Given the description of an element on the screen output the (x, y) to click on. 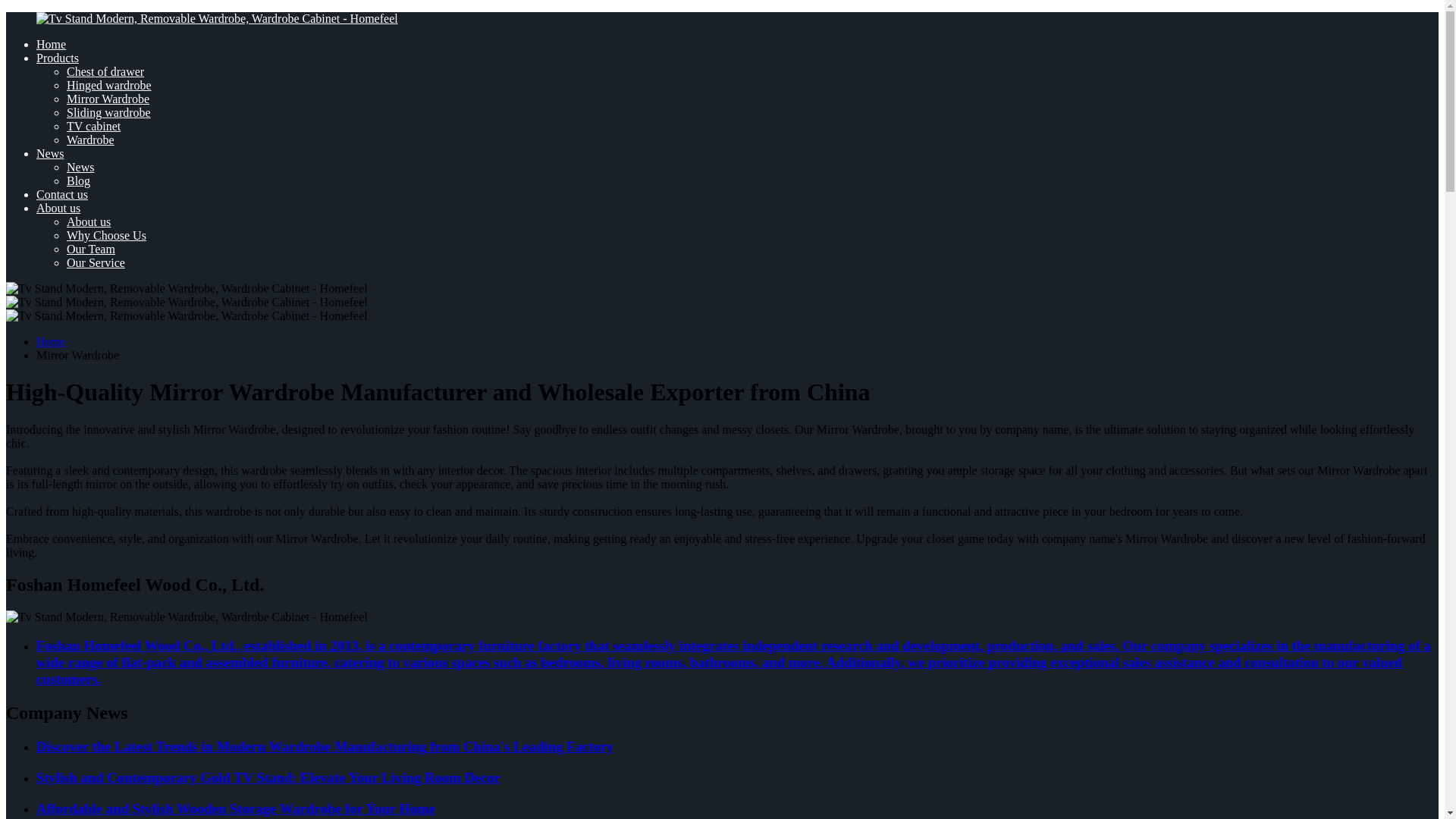
Blog (78, 180)
Products (57, 57)
Our Team (90, 248)
About us (58, 207)
Wardrobe (90, 139)
TV cabinet (93, 125)
Home (50, 43)
Hinged wardrobe (108, 84)
Chest of drawer (105, 71)
Why Choose Us (106, 235)
Contact us (61, 194)
Sliding wardrobe (108, 112)
About us (88, 221)
Mirror Wardrobe (107, 98)
Home (50, 341)
